Given the description of an element on the screen output the (x, y) to click on. 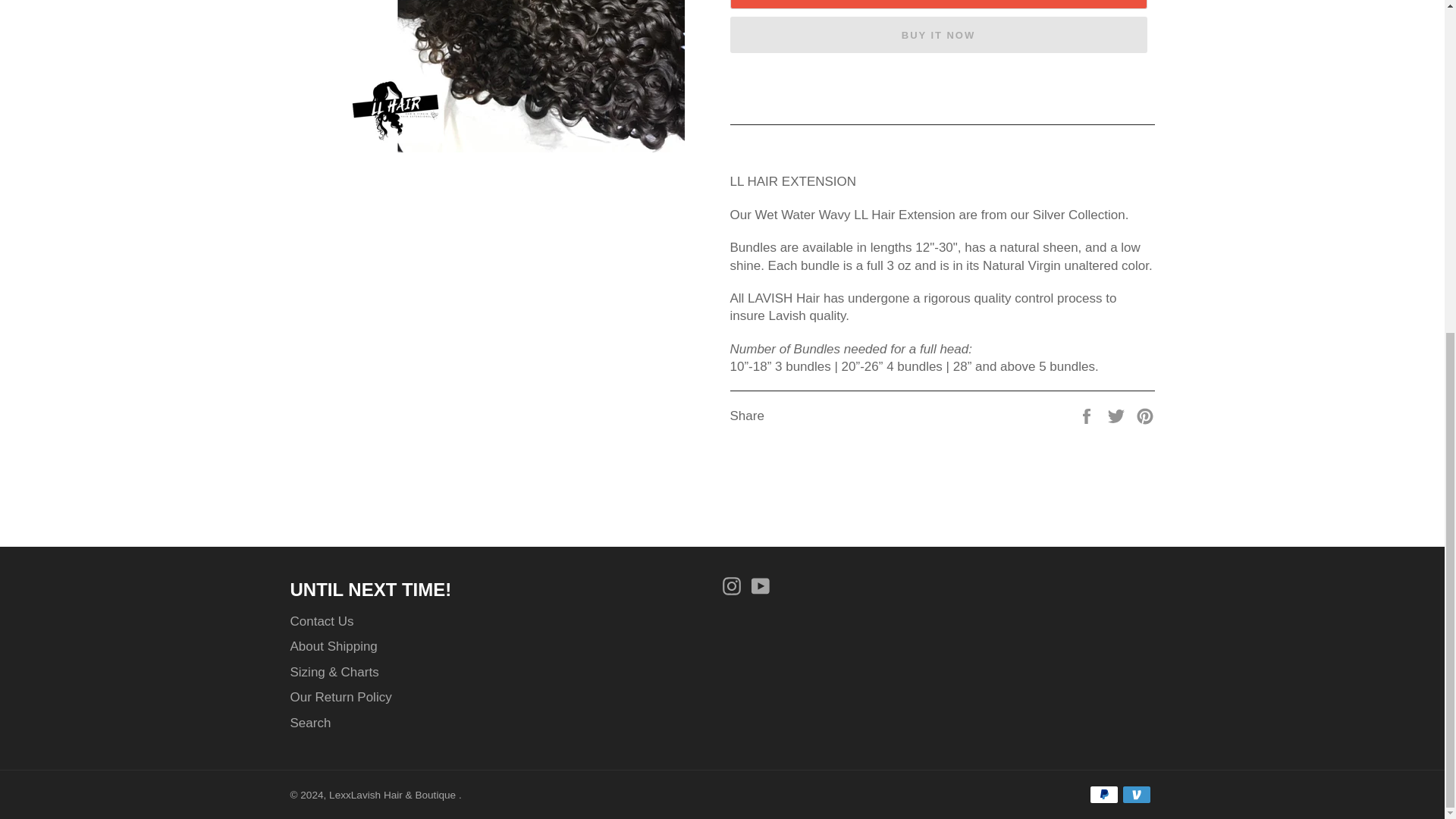
Pin on Pinterest (1144, 414)
Tweet on Twitter (1117, 414)
Share on Facebook (1088, 414)
